Given the description of an element on the screen output the (x, y) to click on. 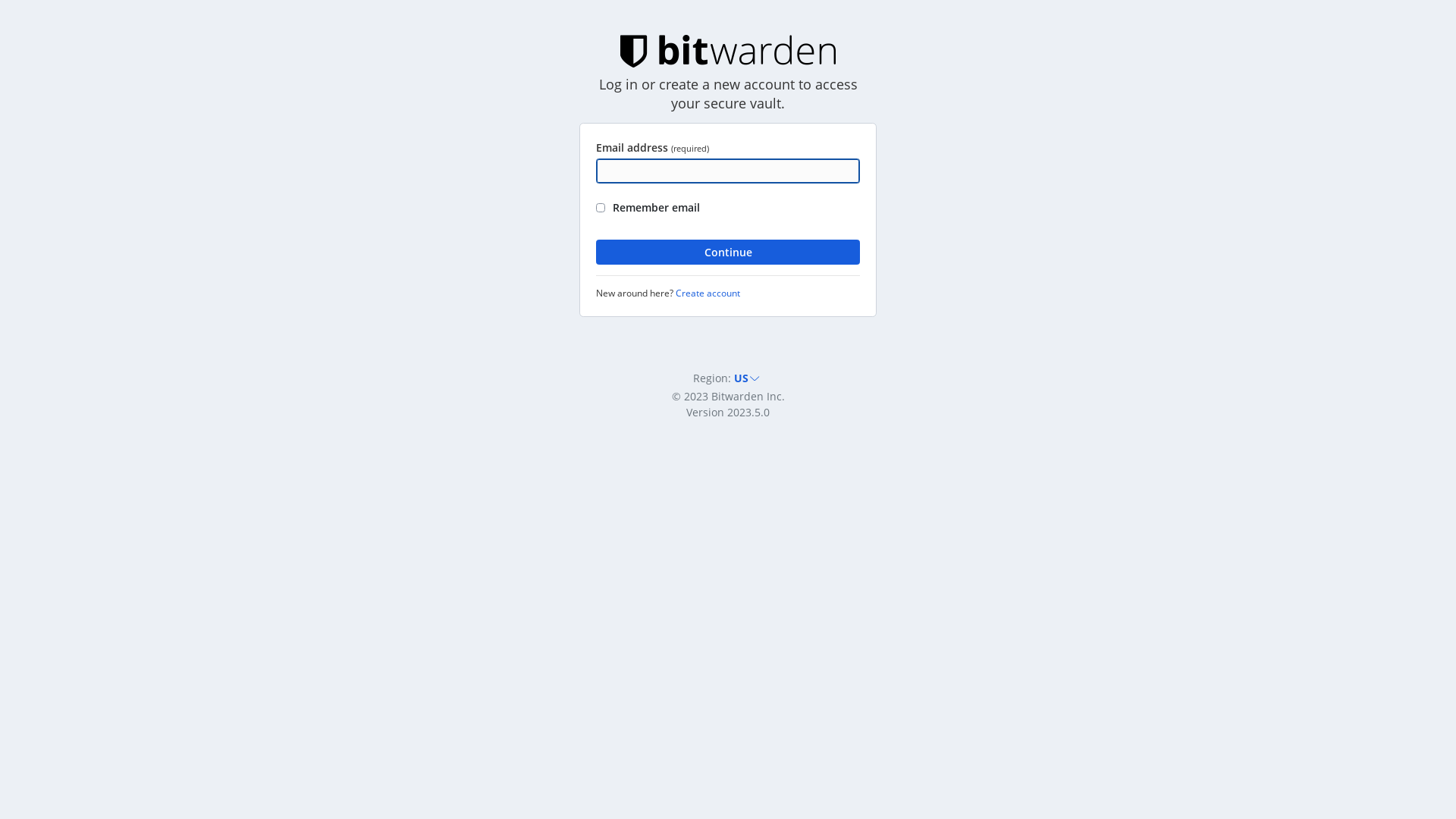
Continue Element type: text (727, 252)
US Element type: text (748, 377)
Create account Element type: text (707, 292)
